Given the description of an element on the screen output the (x, y) to click on. 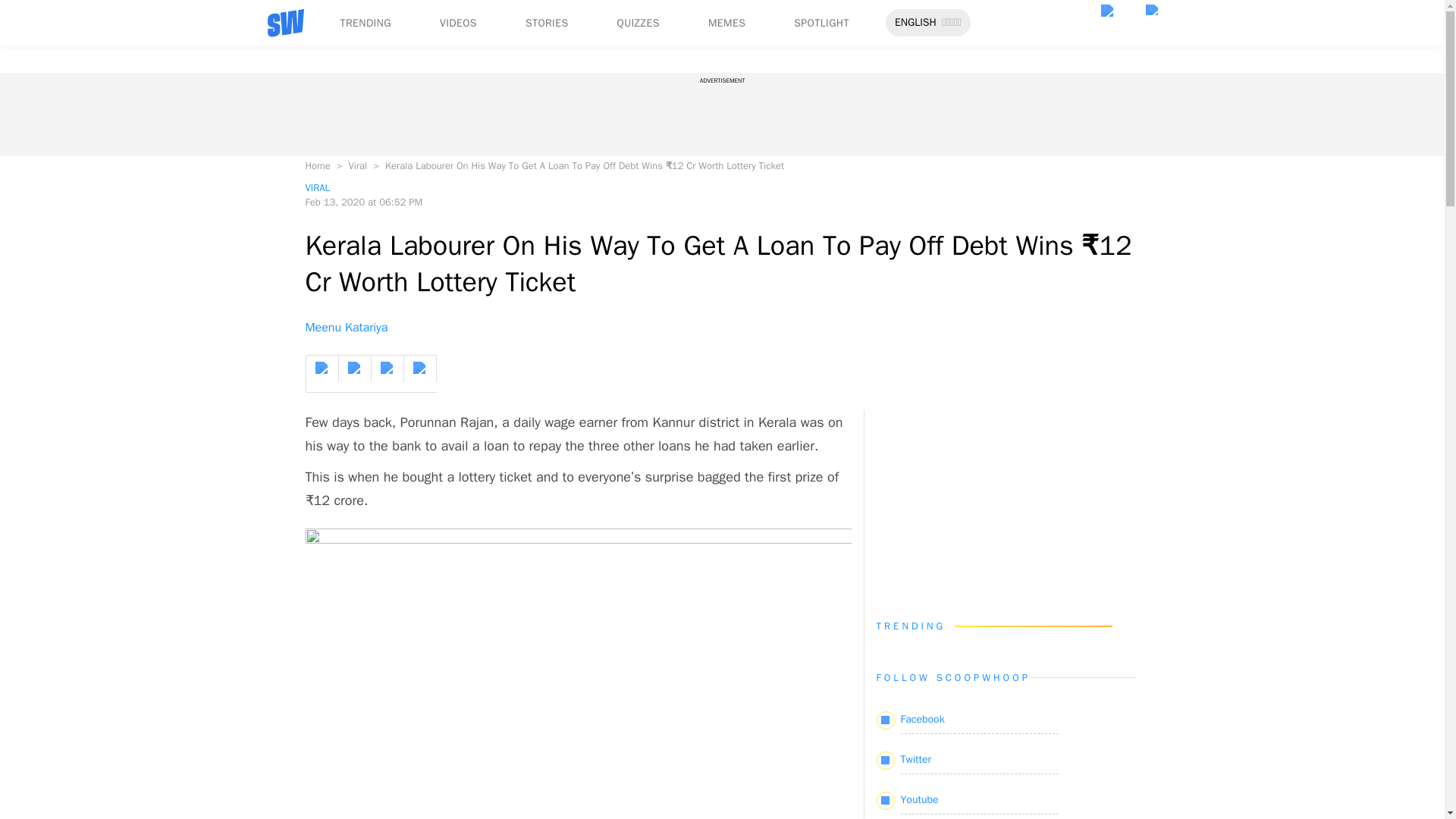
QUIZZES (638, 22)
TRENDING (364, 22)
VIDEOS (458, 22)
MEMES (726, 22)
STORIES (547, 22)
ENGLISH (915, 22)
SPOTLIGHT (820, 22)
